Given the description of an element on the screen output the (x, y) to click on. 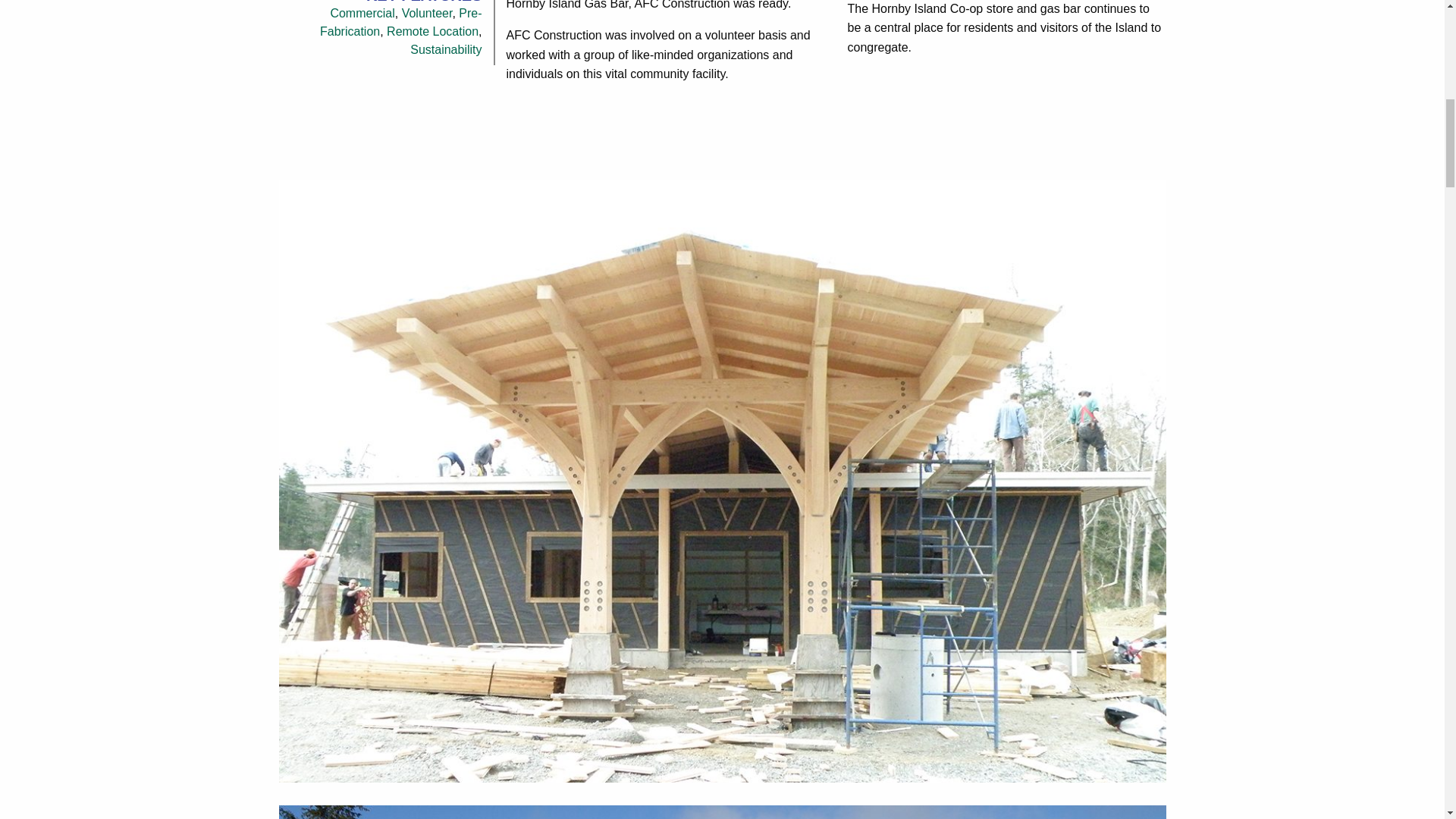
Sustainability (445, 49)
Volunteer (426, 12)
Pre-Fabrication (400, 21)
Commercial (362, 12)
Remote Location (433, 31)
